Given the description of an element on the screen output the (x, y) to click on. 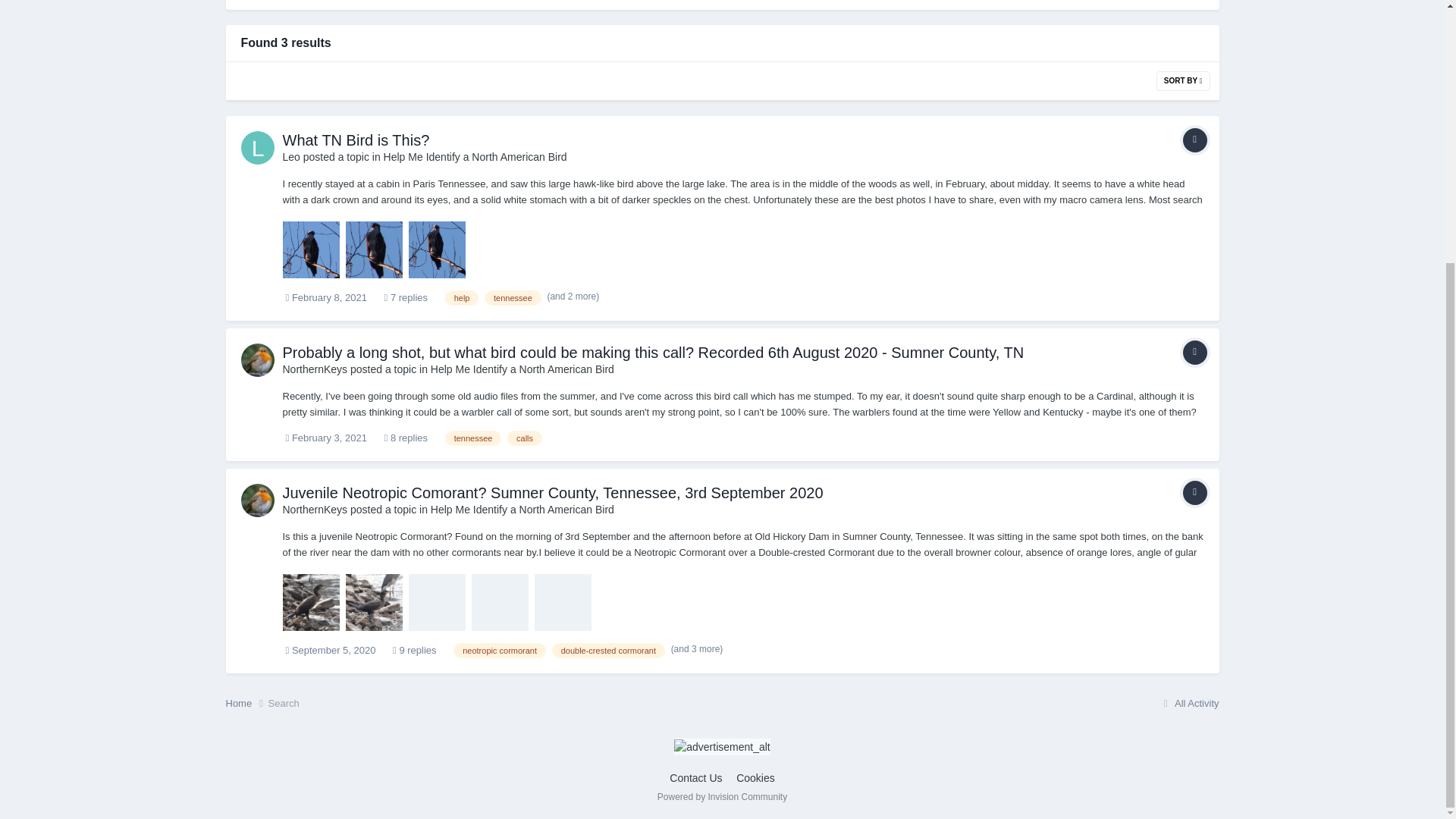
Find other content tagged with 'tennessee' (473, 437)
Find other content tagged with 'help' (462, 297)
Go to NorthernKeys's profile (314, 369)
Find other content tagged with 'calls' (523, 437)
Go to NorthernKeys's profile (258, 359)
Topic (1194, 139)
Find other content tagged with 'tennessee' (512, 297)
Topic (1194, 352)
Go to Leo's profile (258, 147)
Go to Leo's profile (290, 156)
